Given the description of an element on the screen output the (x, y) to click on. 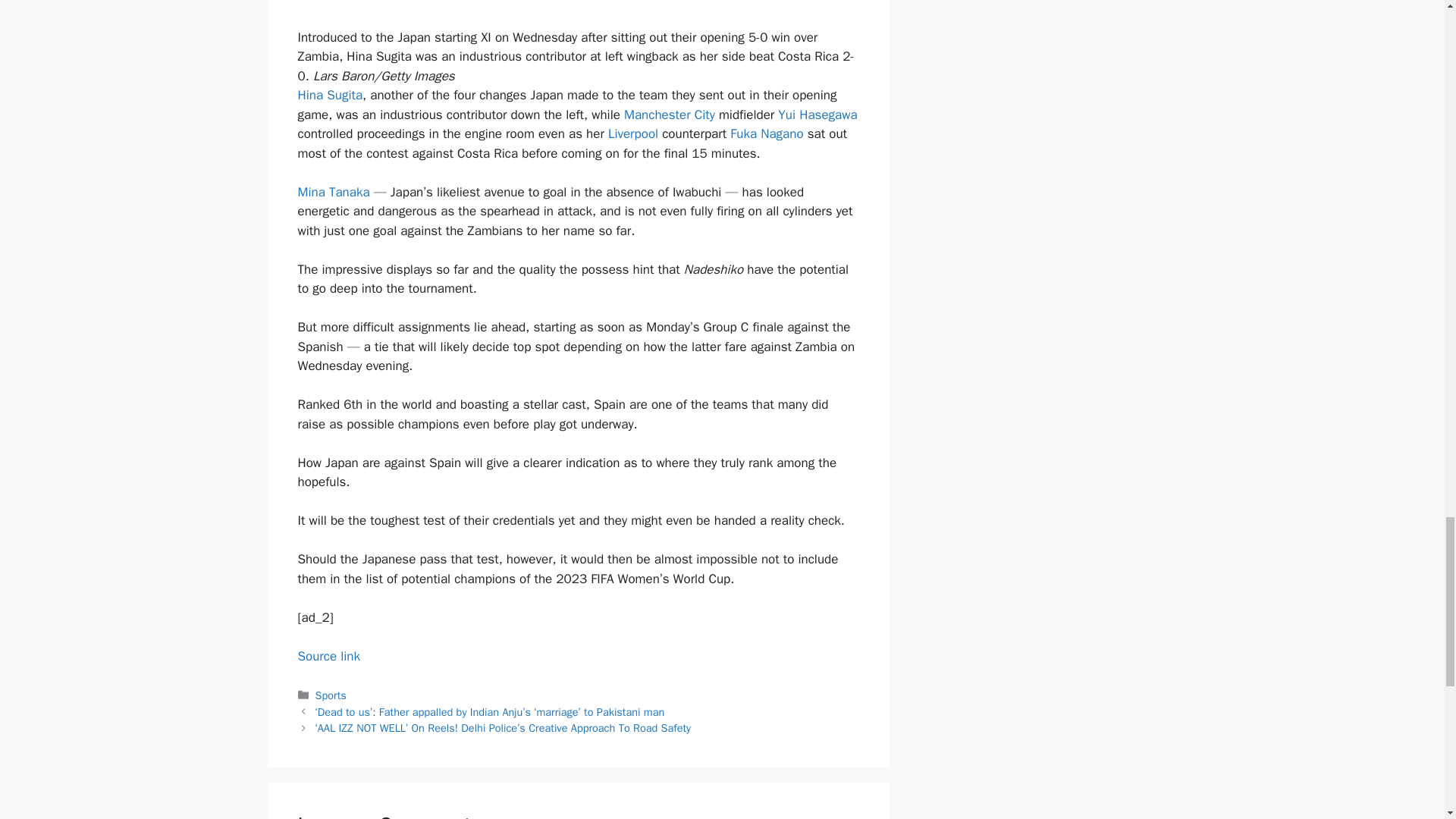
Yui Hasegawa (817, 114)
Manchester City (669, 114)
Fuka Nagano (766, 133)
Mina Tanaka (333, 191)
Hina Sugita (329, 94)
Liverpool (633, 133)
Source link (328, 656)
Sports (330, 694)
